Given the description of an element on the screen output the (x, y) to click on. 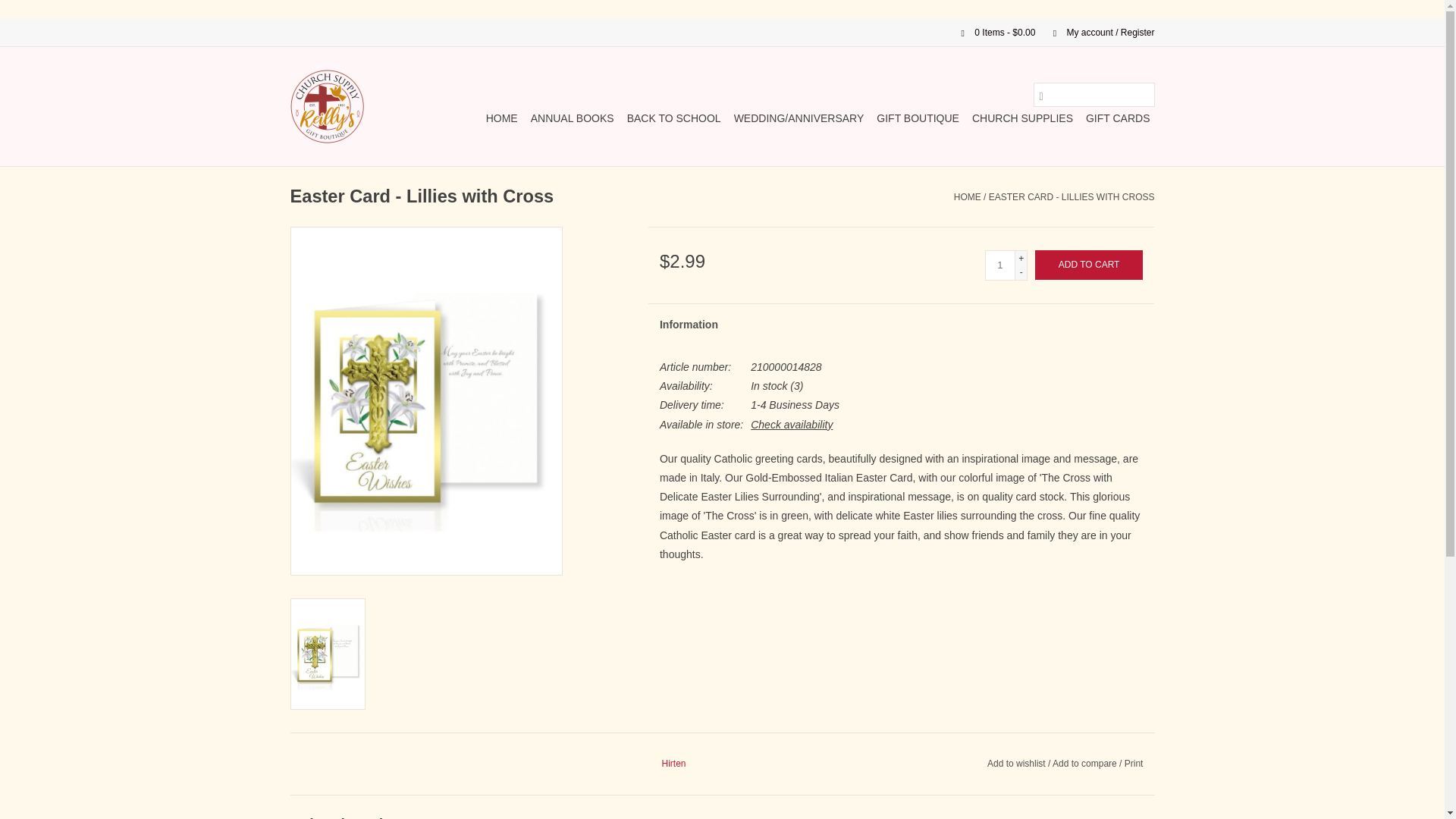
ANNUAL BOOKS (571, 118)
BACK TO SCHOOL (674, 118)
My account (1096, 32)
Annual Books (571, 118)
HOME (501, 118)
1 (999, 265)
GIFT BOUTIQUE (917, 118)
Cart (992, 32)
Back to School (674, 118)
Gift Boutique (917, 118)
